Given the description of an element on the screen output the (x, y) to click on. 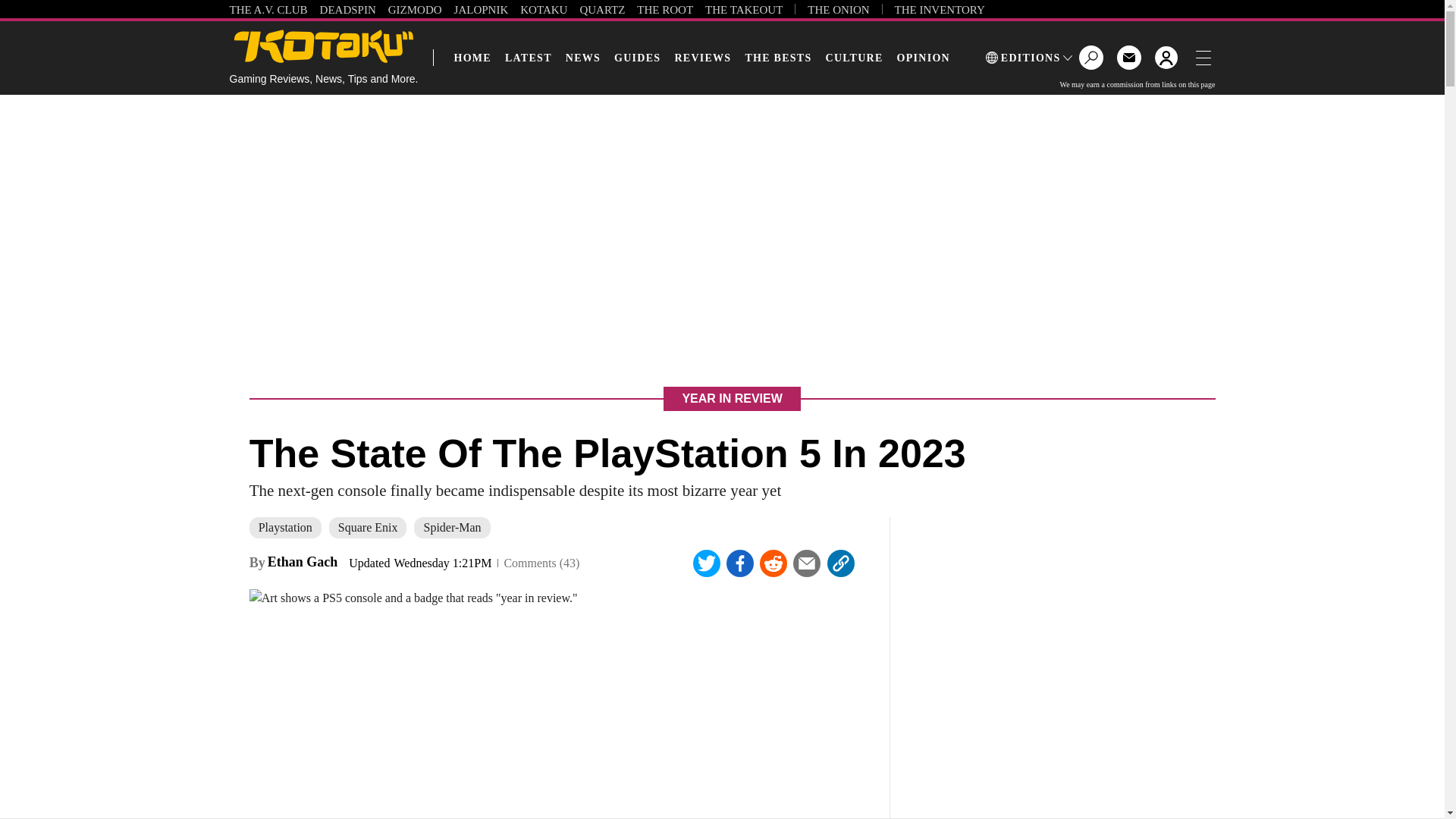
GUIDES (637, 57)
GIZMODO (415, 9)
DEADSPIN (347, 9)
THE BESTS (777, 57)
THE ROOT (665, 9)
Share to Twitter (706, 562)
Square Enix (368, 527)
OPINION (923, 57)
THE ONION (838, 9)
NEWS (582, 57)
Playstation (284, 527)
Kotaku (323, 45)
EDITIONS (1028, 57)
Share to Facebook (740, 562)
QUARTZ (601, 9)
